Given the description of an element on the screen output the (x, y) to click on. 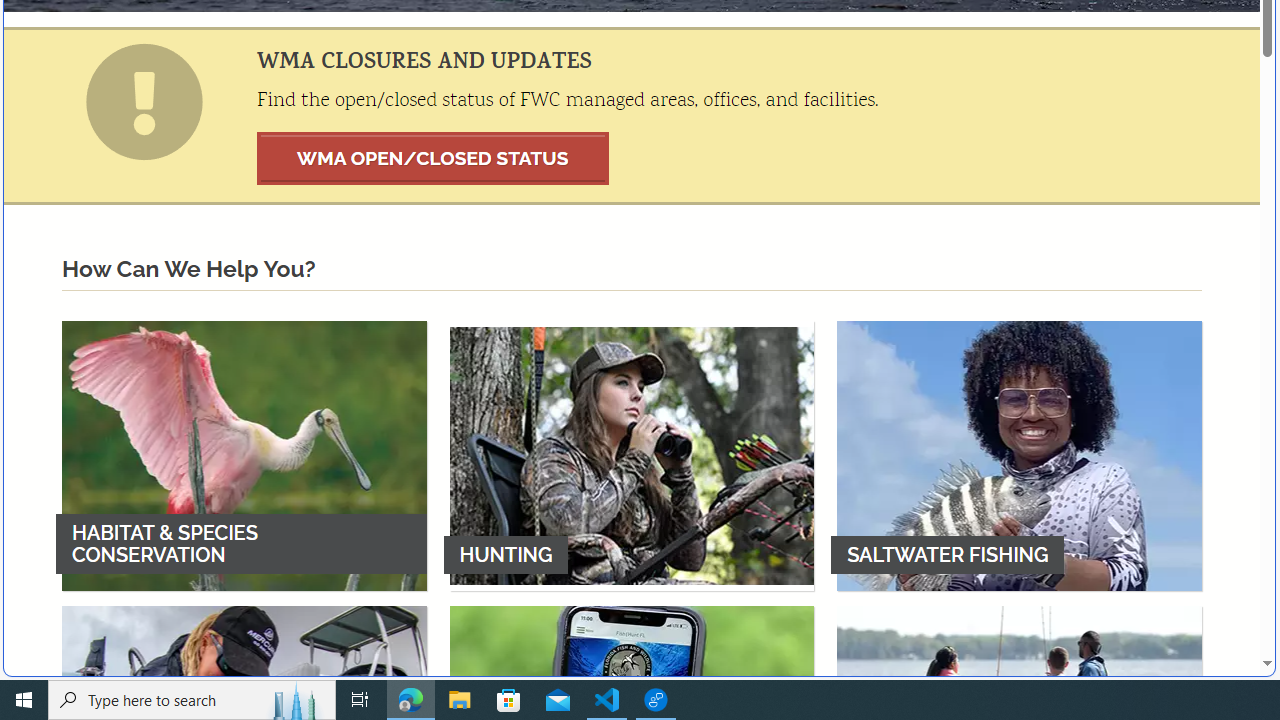
HABITAT & SPECIES CONSERVATION (244, 455)
HUNTING (632, 455)
WMA OPEN/CLOSED STATUS (433, 158)
SALTWATER FISHING (1019, 455)
